Given the description of an element on the screen output the (x, y) to click on. 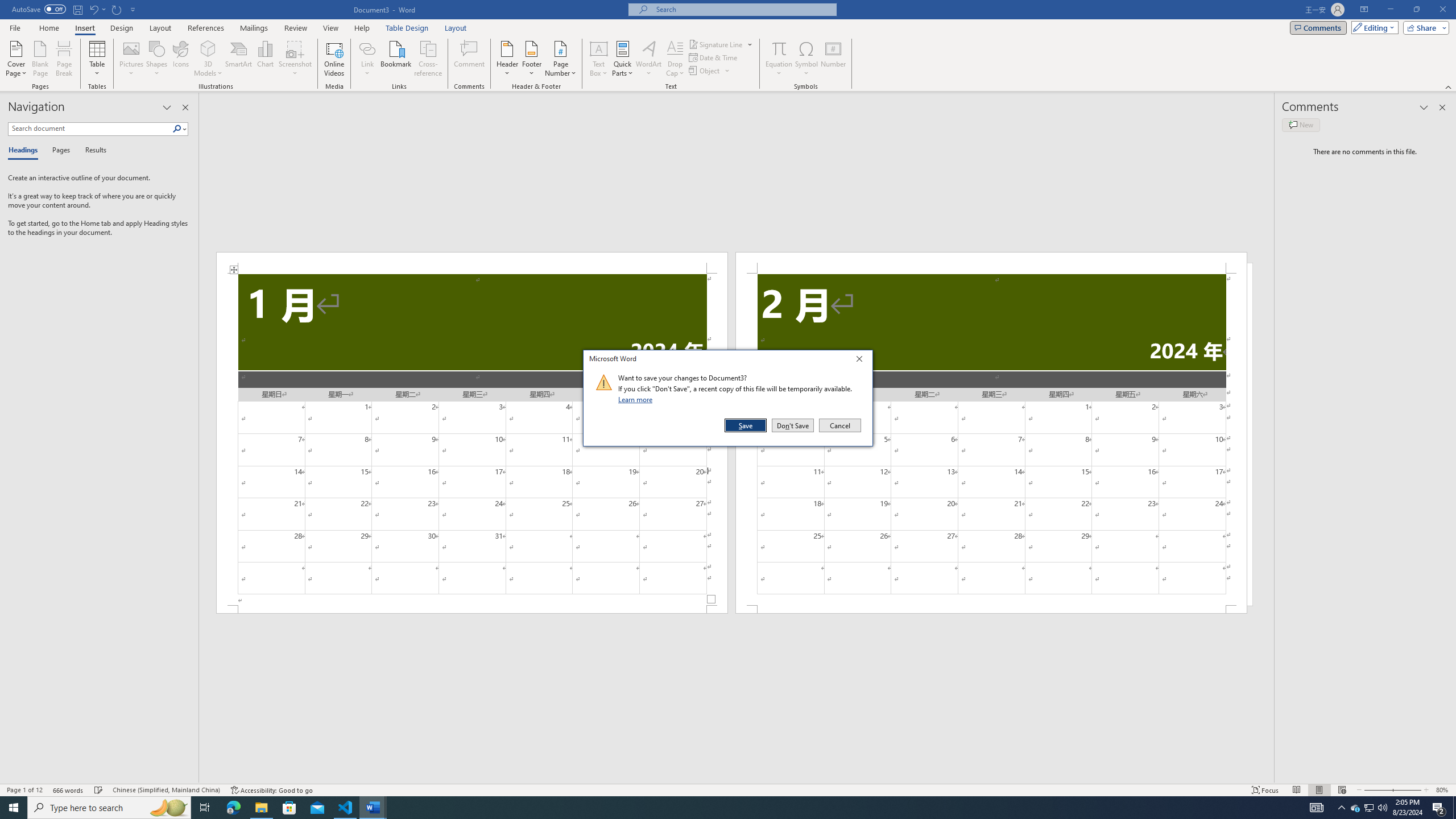
Screenshot (295, 58)
Page Number (560, 58)
WordArt (648, 58)
SmartArt... (238, 58)
Bookmark... (396, 58)
Footer (531, 58)
